Given the description of an element on the screen output the (x, y) to click on. 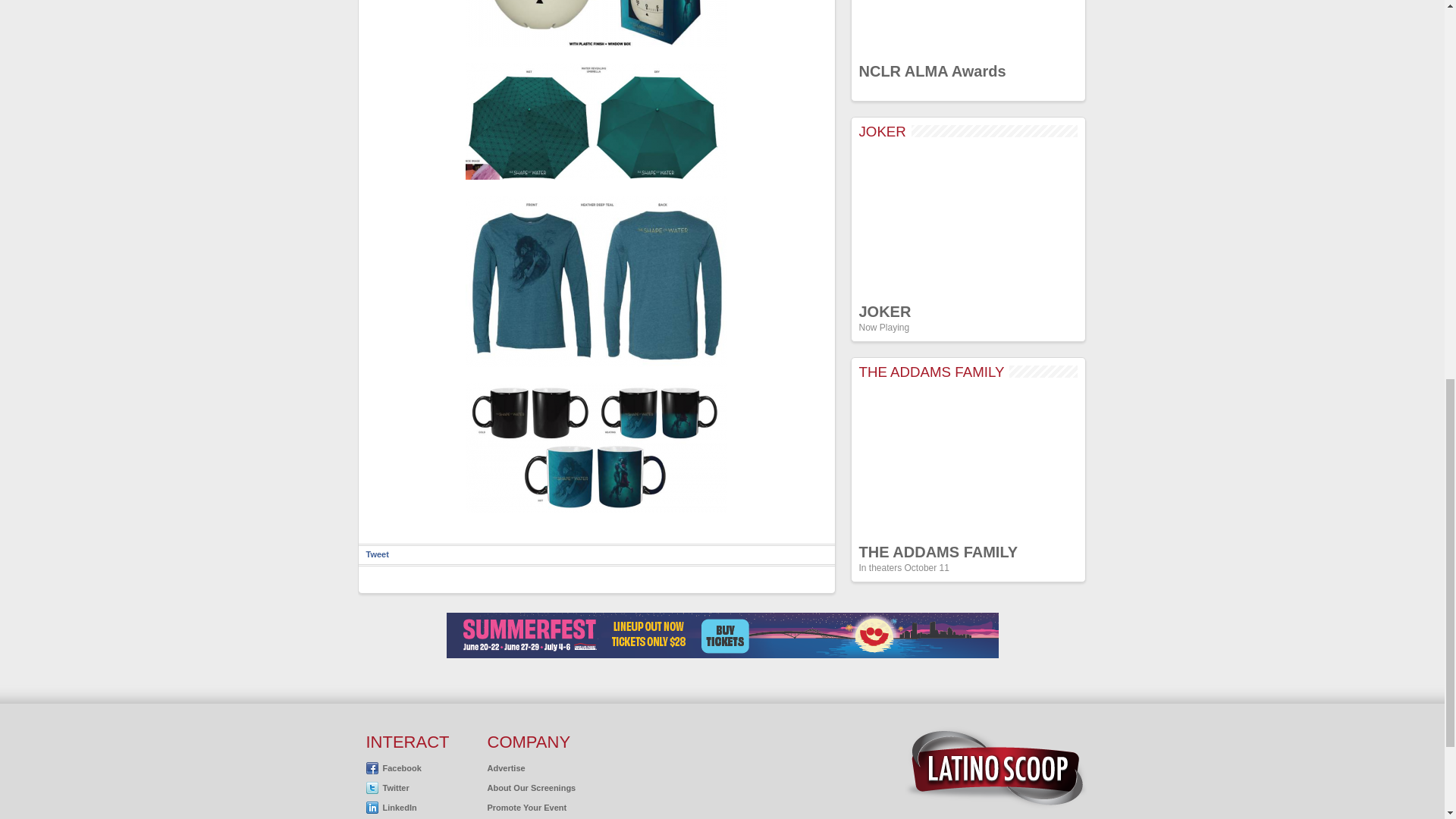
LatinoScoop on Facebook (392, 767)
YouTube video player (968, 221)
YouTube video player (968, 461)
Tweet (376, 553)
LinkedIn (390, 807)
YouTube video player (968, 27)
Twitter (387, 787)
Facebook (392, 767)
